Given the description of an element on the screen output the (x, y) to click on. 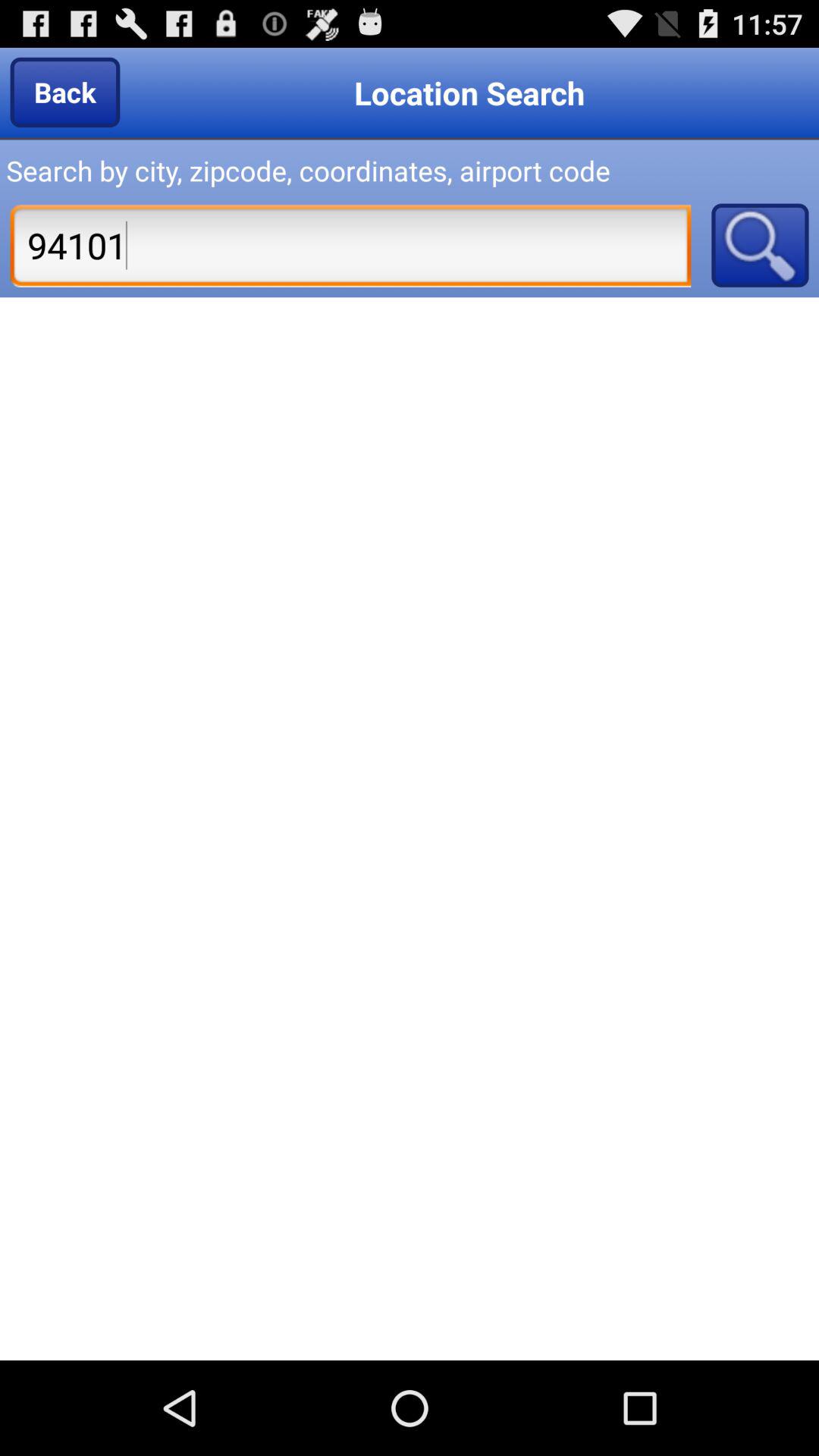
press icon at the top left corner (65, 92)
